Given the description of an element on the screen output the (x, y) to click on. 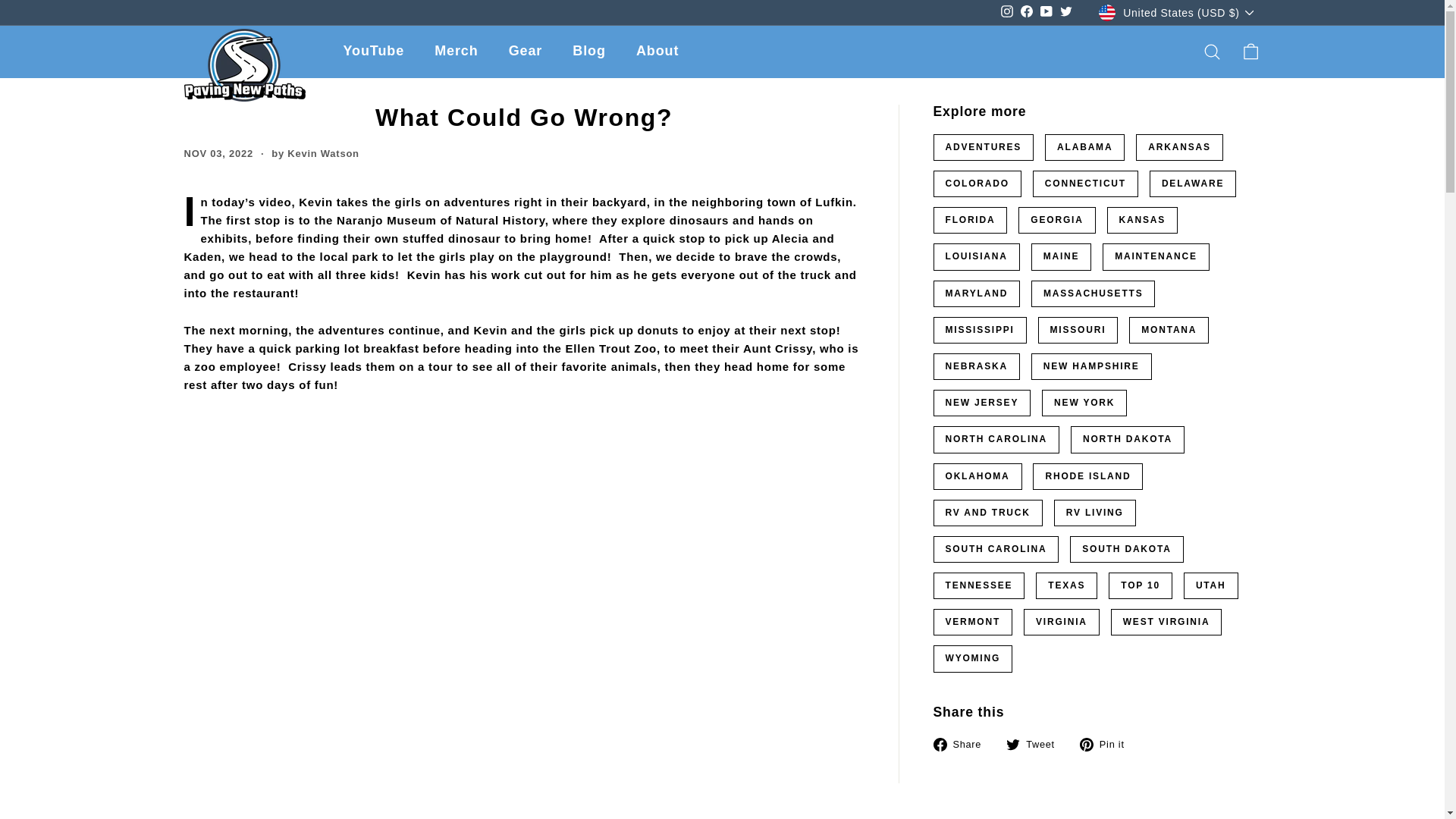
Merch (456, 51)
Blog (589, 51)
Pin on Pinterest (1107, 743)
Gear (525, 51)
Share on Facebook (962, 743)
Tweet on Twitter (1035, 743)
YouTube (373, 51)
